Given the description of an element on the screen output the (x, y) to click on. 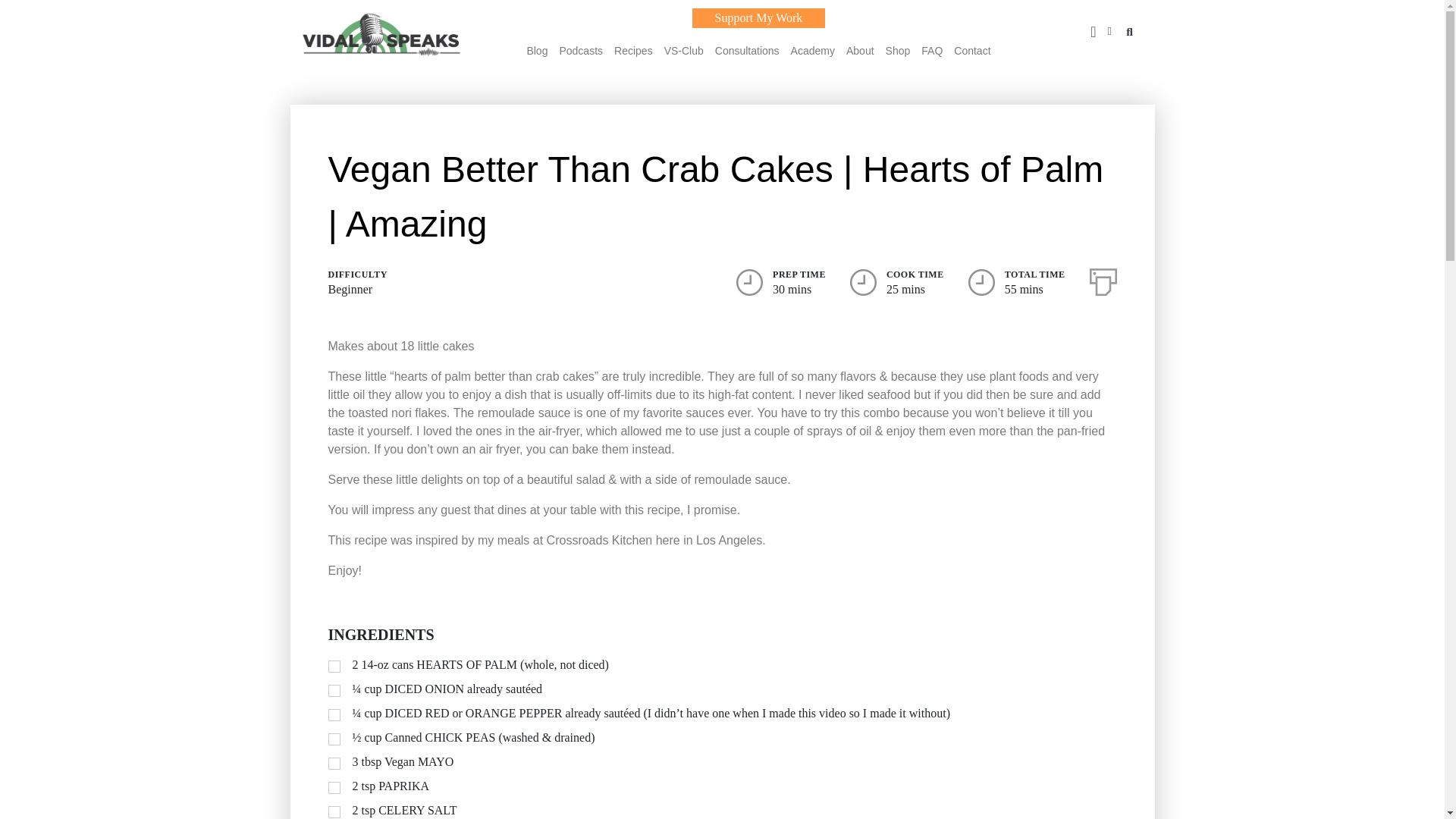
Blog (536, 50)
Recipes (633, 50)
VS-Club (683, 50)
Shop (898, 50)
Consultations (746, 50)
Academy (812, 50)
FAQ (931, 50)
About (860, 50)
Podcasts (580, 50)
Contact (971, 50)
Support My Work (759, 17)
